Given the description of an element on the screen output the (x, y) to click on. 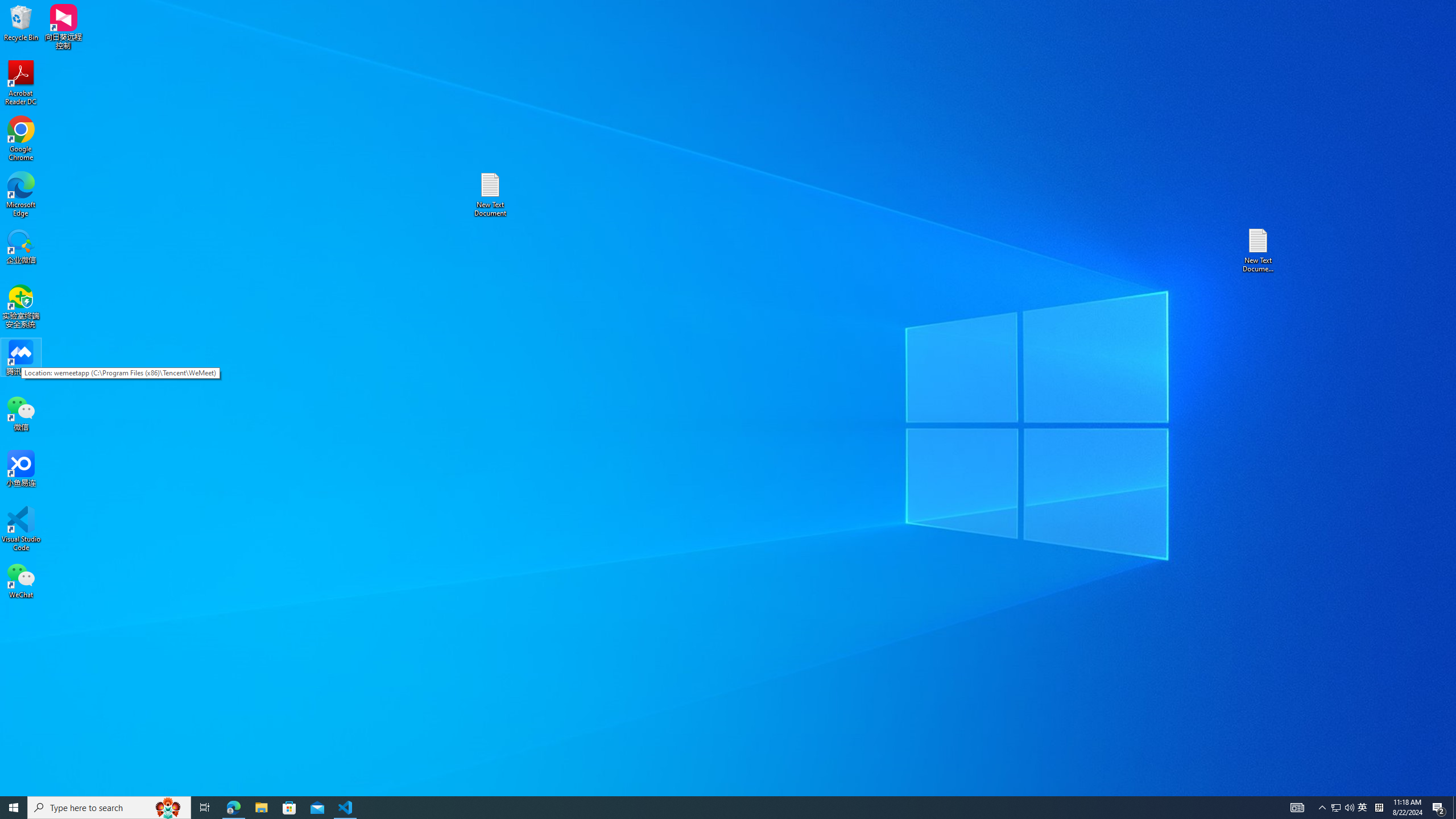
WeChat (21, 580)
Notification Chevron (1322, 807)
Type here to search (108, 807)
Acrobat Reader DC (1362, 807)
Tray Input Indicator - Chinese (Simplified, China) (21, 82)
Q2790: 100% (1335, 807)
Show desktop (1378, 807)
Task View (1349, 807)
